Given the description of an element on the screen output the (x, y) to click on. 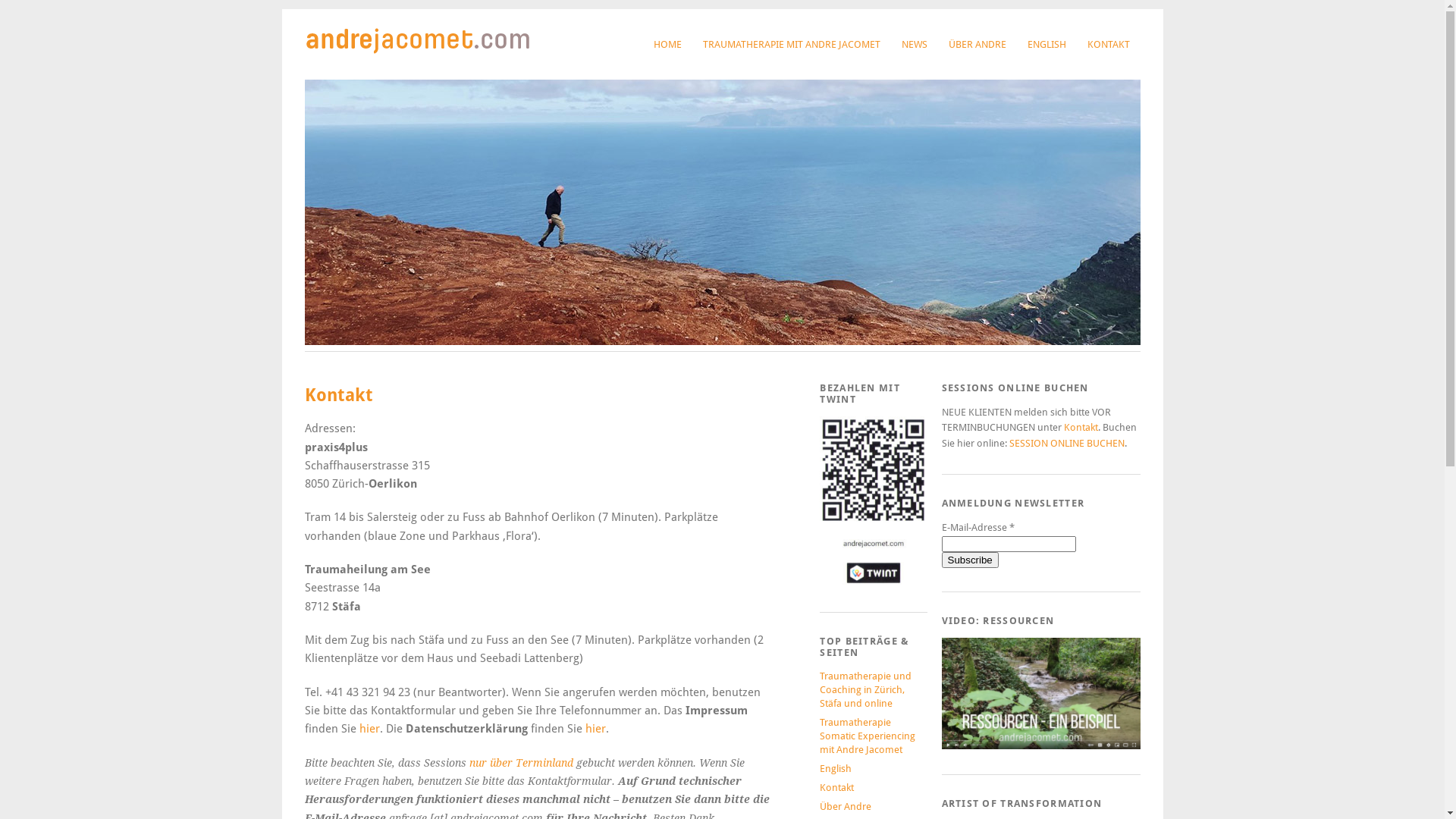
Traumatherapie Somatic Experiencing mit Andre Jacomet Element type: text (867, 735)
Video: Ressourcen Element type: hover (1040, 693)
Kontakt Element type: text (1080, 427)
NEWS Element type: text (913, 43)
Subscribe Element type: text (969, 559)
TRAUMATHERAPIE MIT ANDRE JACOMET Element type: text (790, 43)
English Element type: text (835, 768)
hier Element type: text (369, 728)
KONTAKT Element type: text (1108, 43)
hier Element type: text (595, 728)
SESSION ONLINE BUCHEN Element type: text (1065, 442)
Kontakt Element type: text (836, 787)
HOME Element type: text (667, 43)
ENGLISH Element type: text (1046, 43)
